Given the description of an element on the screen output the (x, y) to click on. 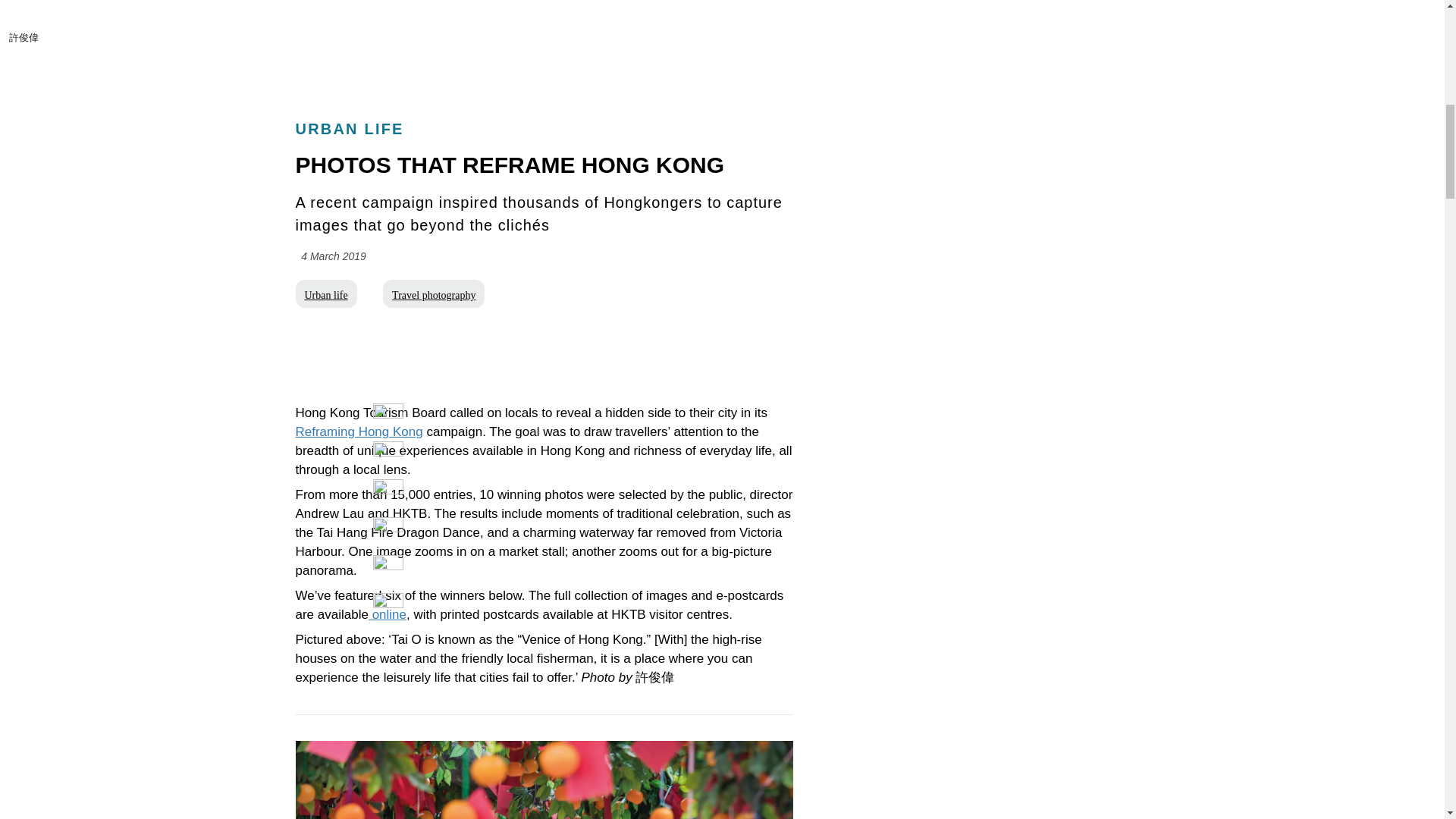
Travel photography (433, 293)
Urban life (325, 293)
Reframing Hong Kong (359, 431)
online (387, 614)
URBAN LIFE (349, 128)
